Given the description of an element on the screen output the (x, y) to click on. 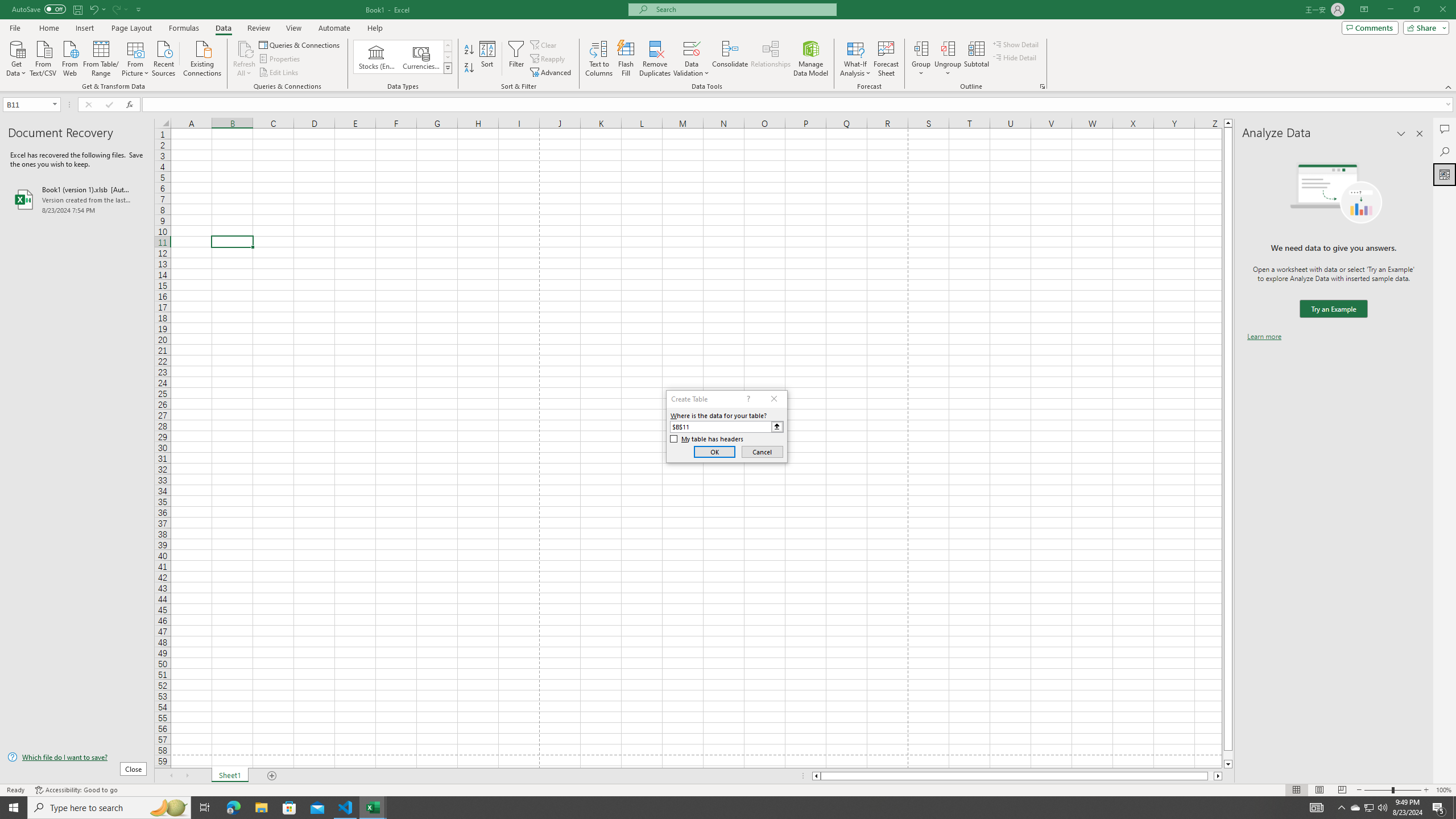
Learn more (1264, 336)
Group and Outline Settings (1042, 85)
From Table/Range (100, 57)
Currencies (English) (420, 56)
